Given the description of an element on the screen output the (x, y) to click on. 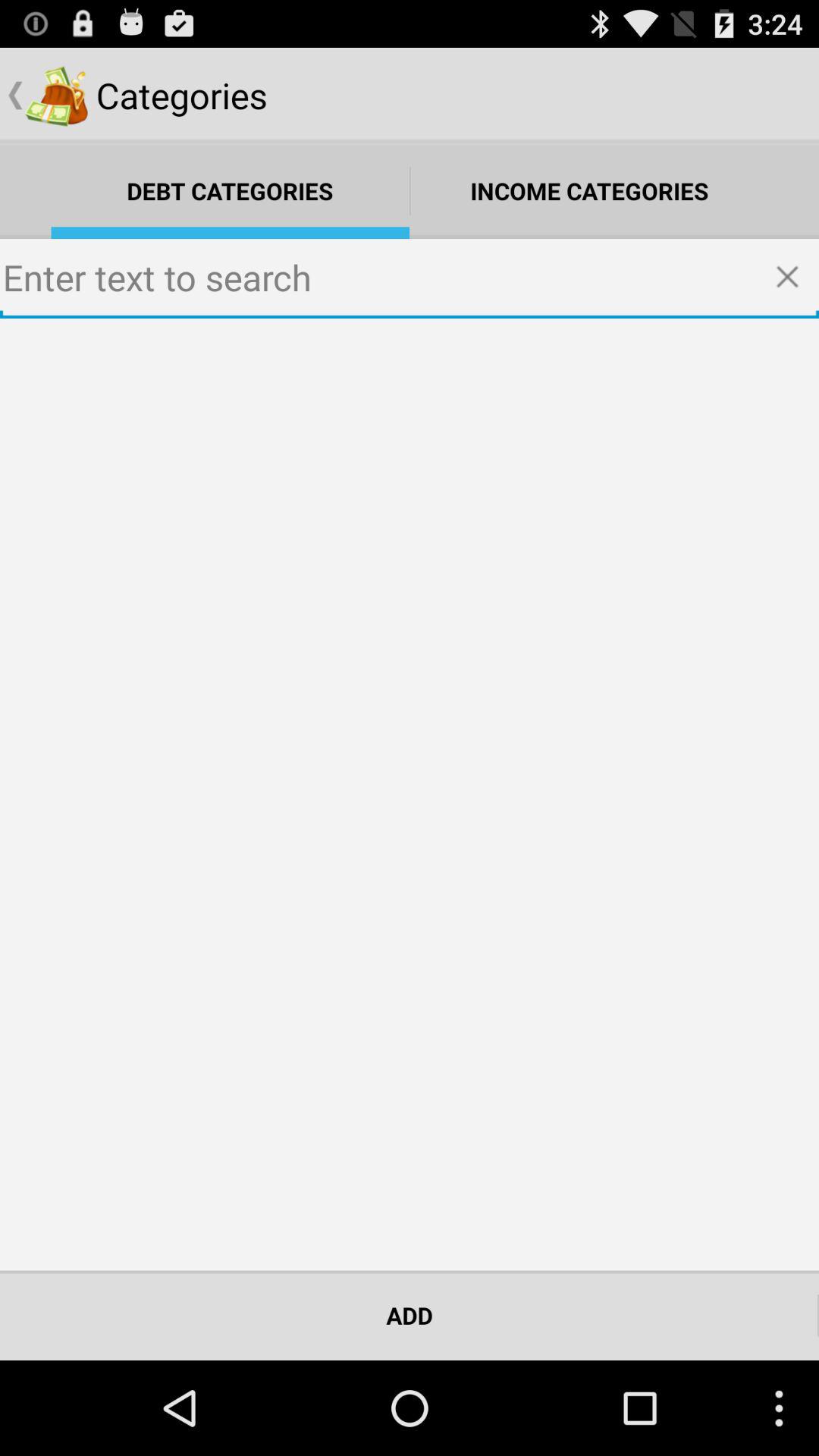
click x to delete search (792, 278)
